Given the description of an element on the screen output the (x, y) to click on. 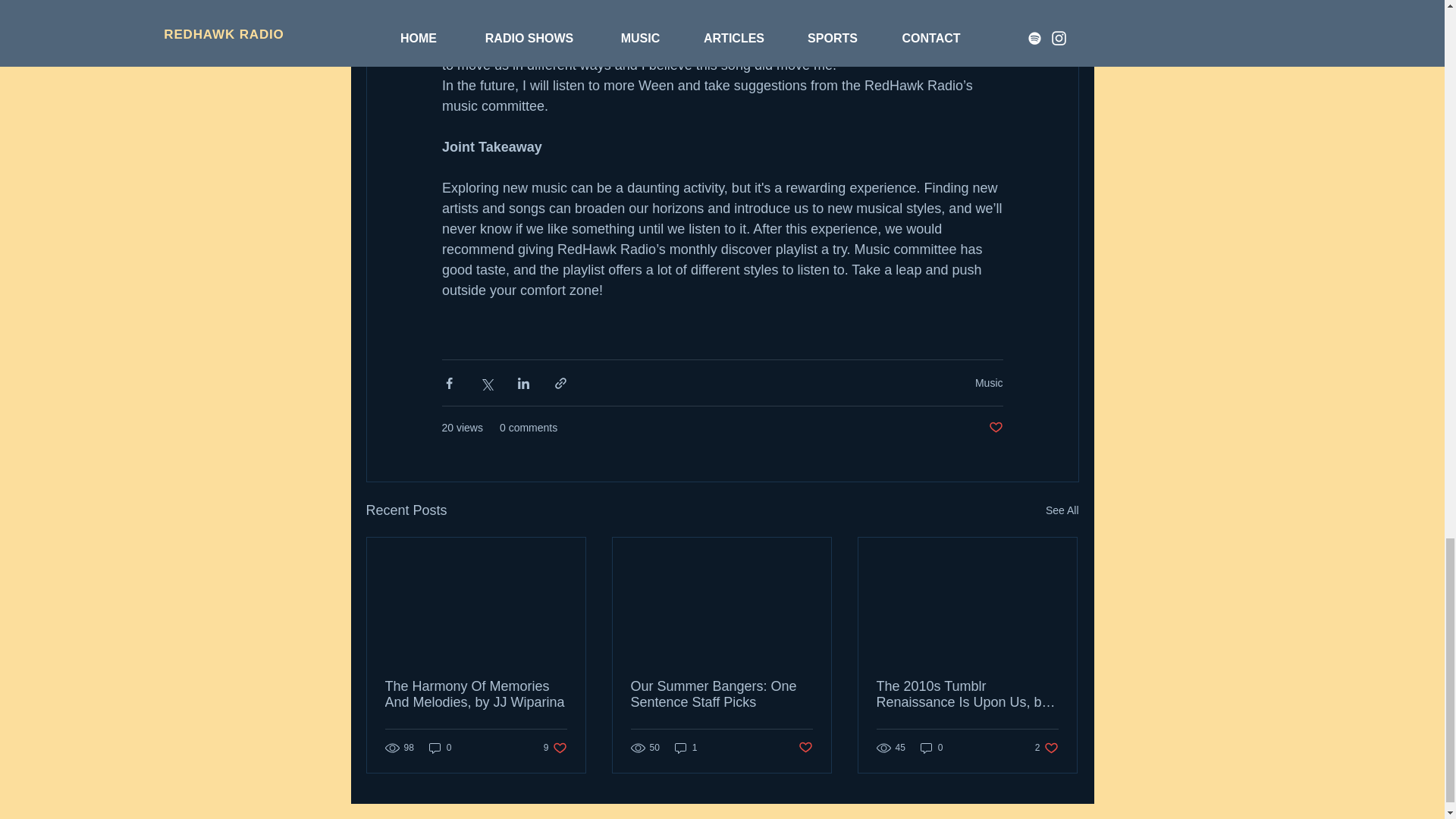
See All (1061, 510)
0 (440, 747)
The Harmony Of Memories And Melodies, by JJ Wiparina (476, 694)
Music (989, 381)
Post not marked as liked (995, 427)
